Given the description of an element on the screen output the (x, y) to click on. 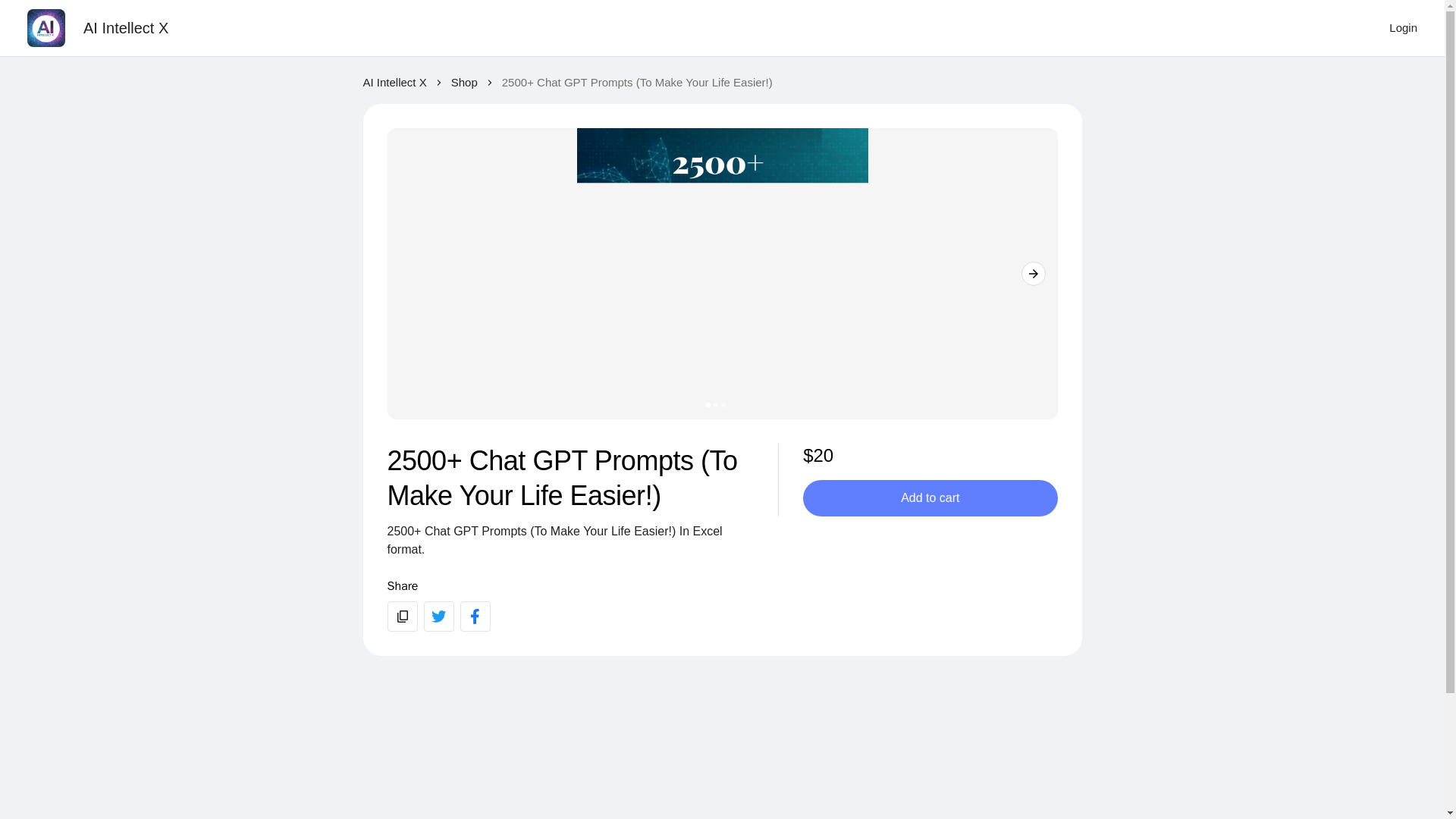
AI Intellect X (125, 27)
AI Intellect X (394, 82)
Shop (464, 82)
Login (1402, 28)
Add to cart (930, 497)
